Given the description of an element on the screen output the (x, y) to click on. 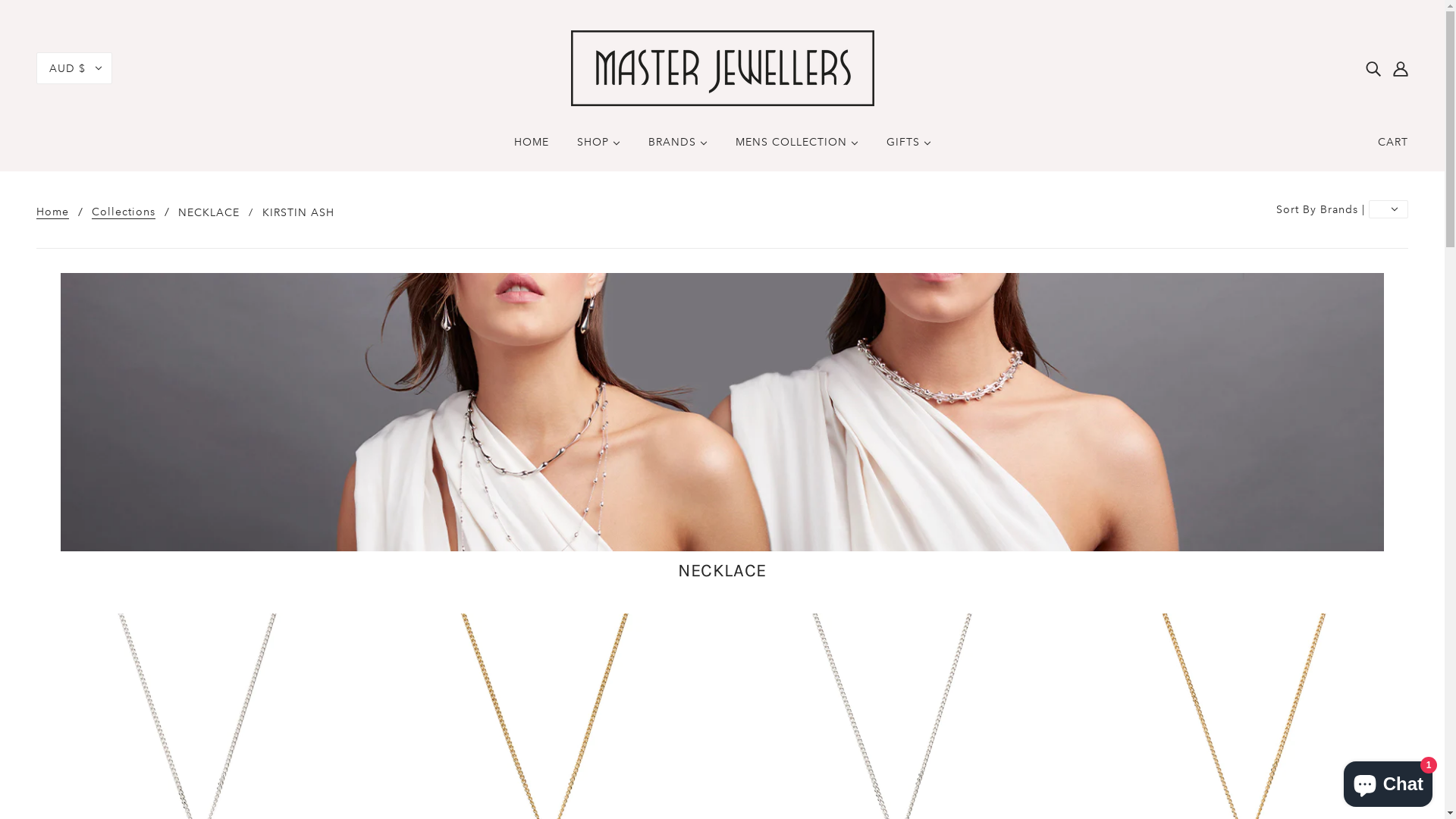
HOME Element type: text (531, 147)
GIFTS Element type: text (907, 147)
CART Element type: text (1392, 141)
Home Element type: text (52, 212)
BRANDS Element type: text (676, 147)
NECKLACE Element type: text (208, 212)
Shopify online store chat Element type: hover (1388, 780)
SHOP Element type: text (597, 147)
Collections Element type: text (123, 212)
Master Jewellers Element type: hover (721, 66)
MENS COLLECTION Element type: text (796, 147)
